Given the description of an element on the screen output the (x, y) to click on. 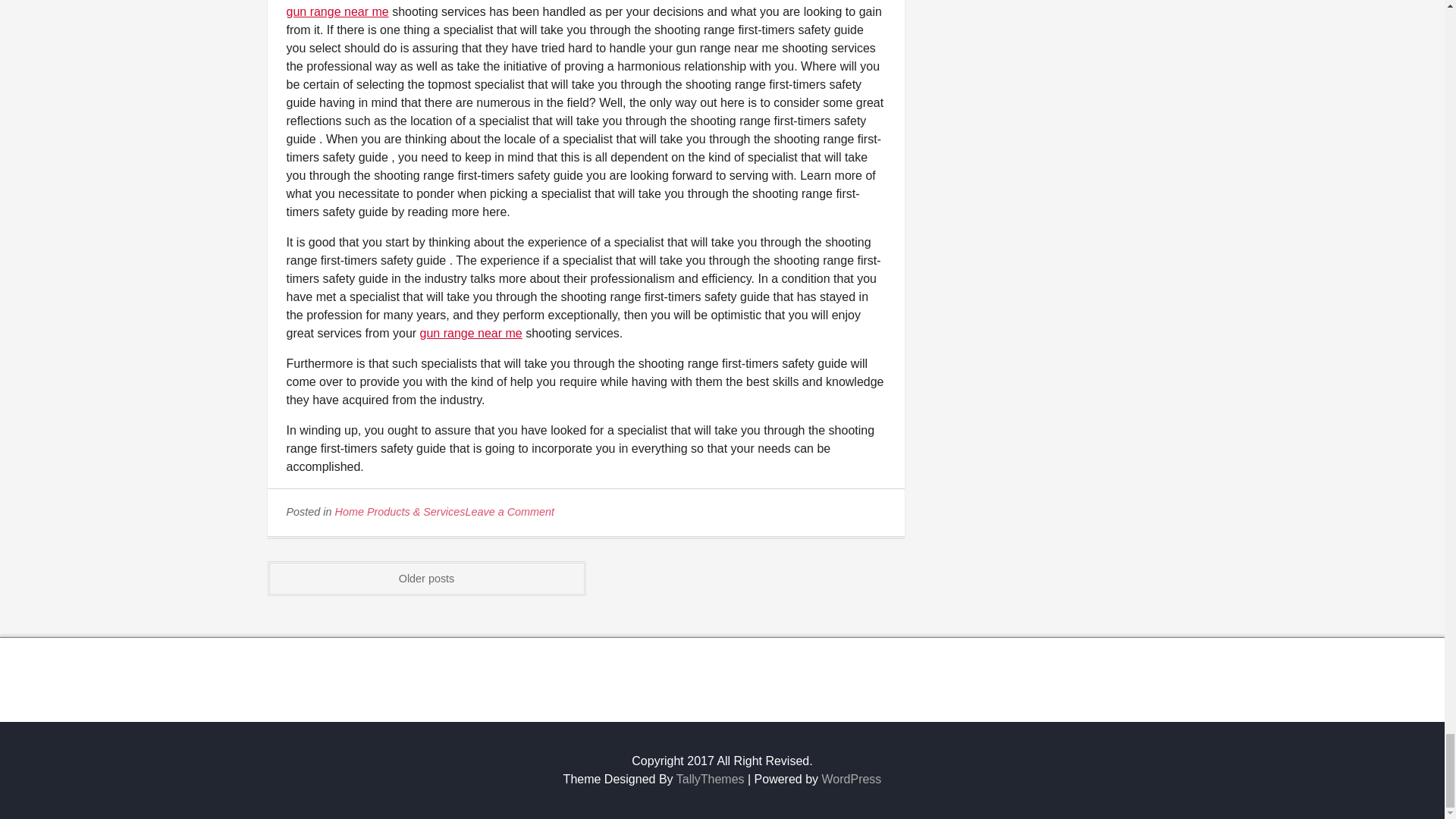
Design By TallyThemes.com (710, 779)
